Given the description of an element on the screen output the (x, y) to click on. 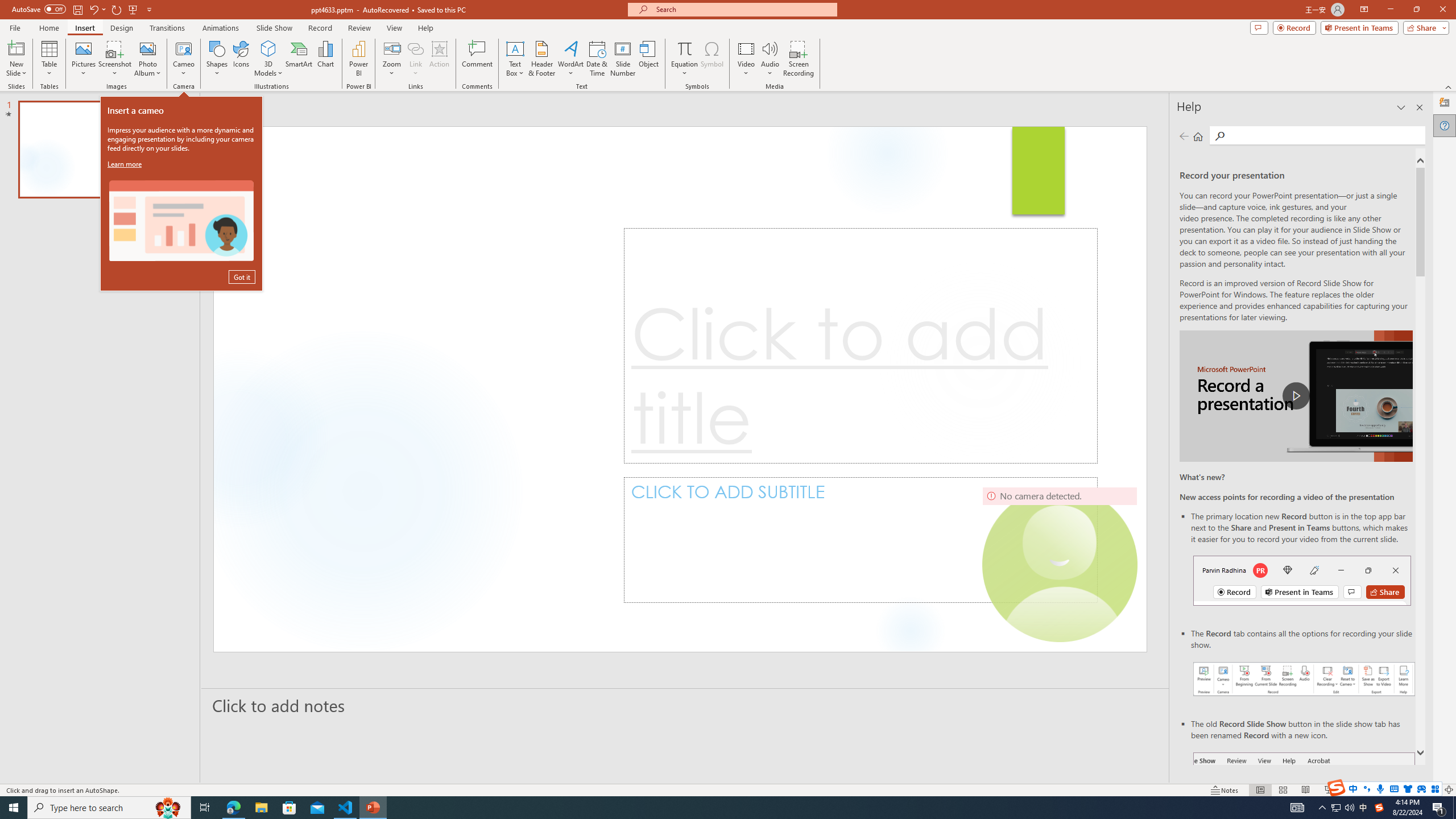
Record your presentations screenshot one (1304, 678)
Previous page (1183, 136)
Object... (649, 58)
